Given the description of an element on the screen output the (x, y) to click on. 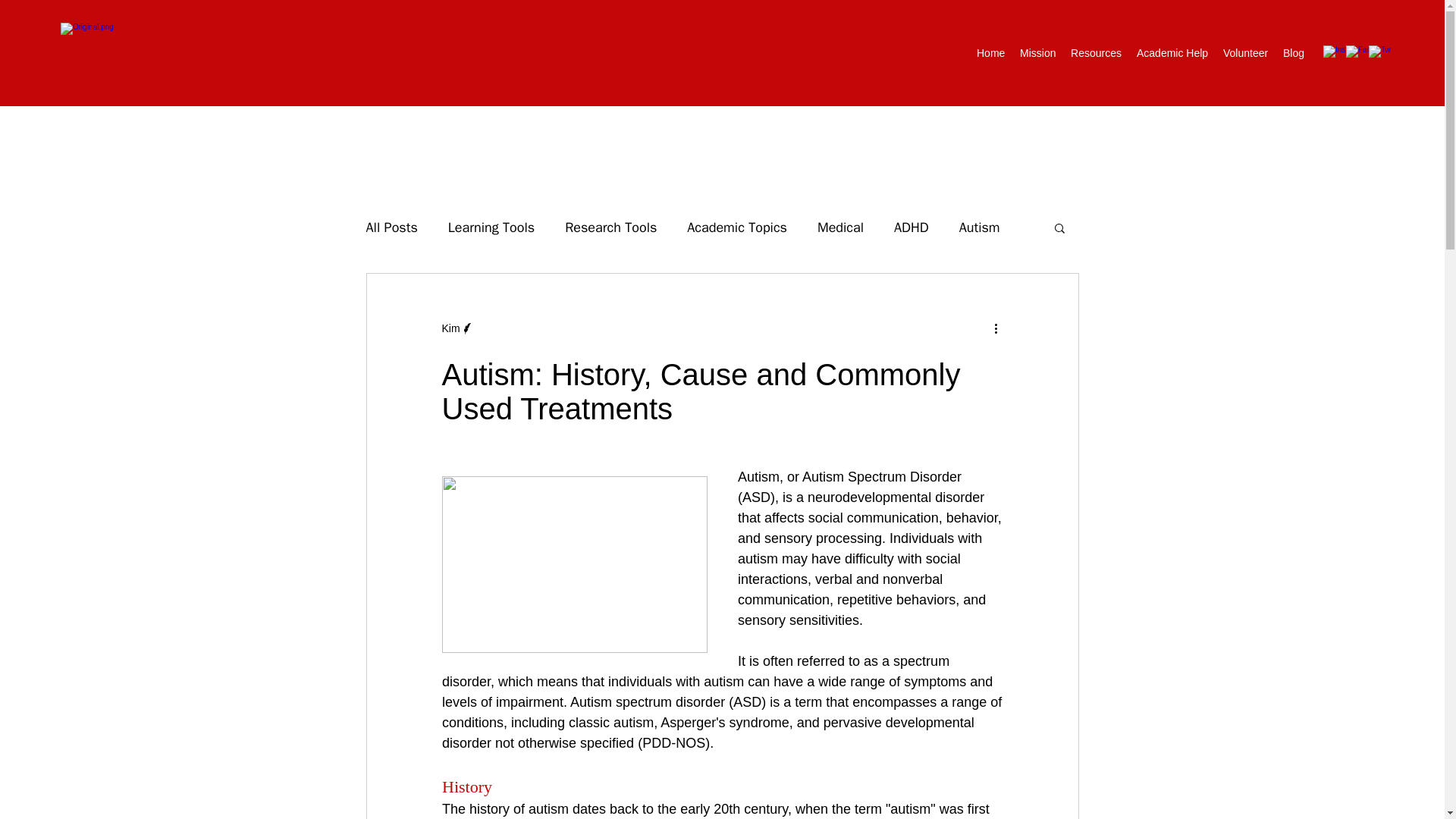
Volunteer (1245, 52)
Academic Help (1172, 52)
Home (990, 52)
Kim (450, 327)
Medical (839, 227)
Mission (1036, 52)
ADHD (910, 227)
Research Tools (610, 227)
Resources (1095, 52)
Learning Tools (491, 227)
Blog (1293, 52)
All Posts (390, 227)
Autism (979, 227)
Academic Topics (737, 227)
